Given the description of an element on the screen output the (x, y) to click on. 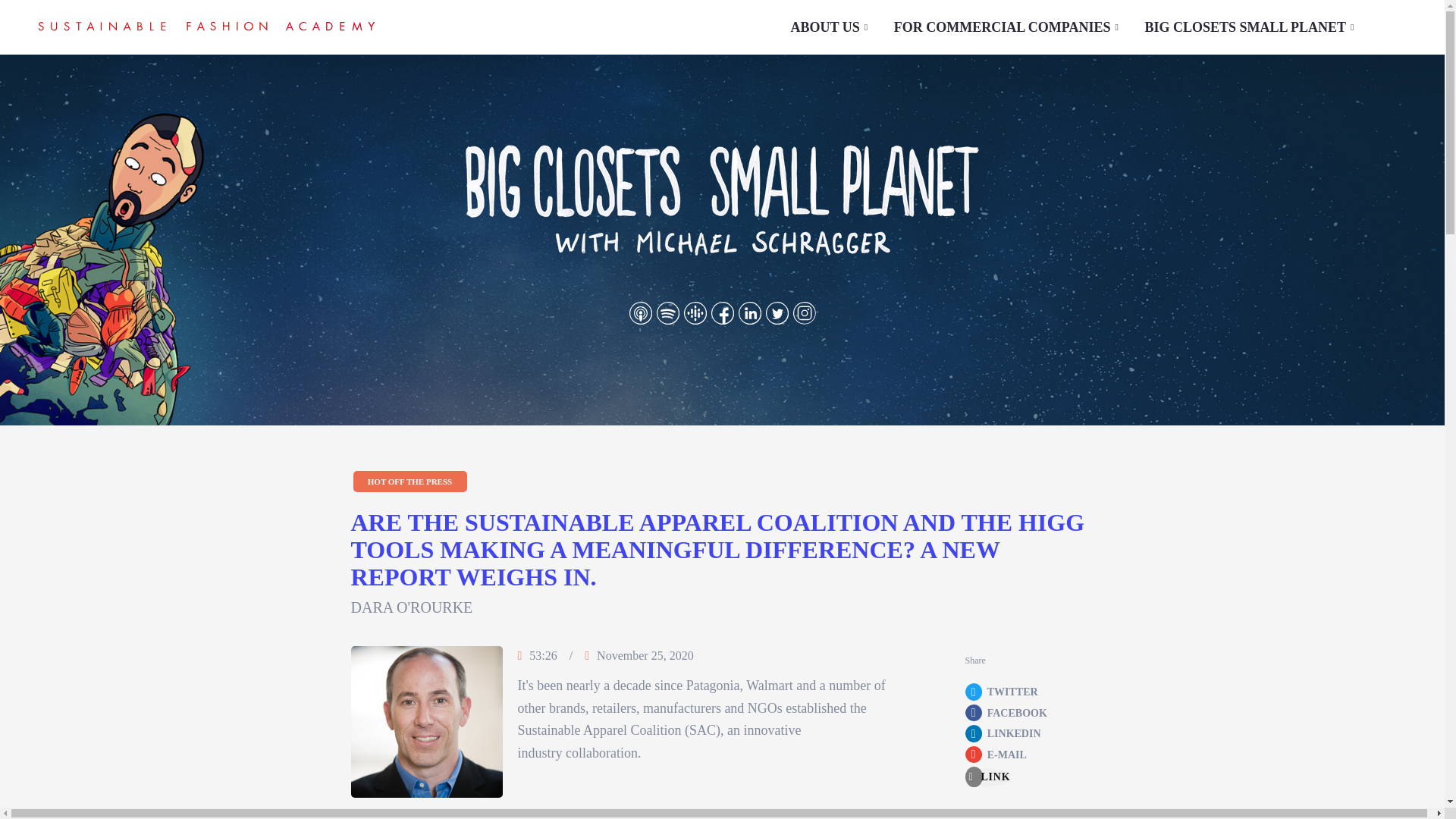
FOR COMMERCIAL COMPANIES (1008, 27)
ABOUT US (722, 27)
Sustainable Fashion Academy (830, 27)
BIG CLOSETS SMALL PLANET (205, 26)
